Given the description of an element on the screen output the (x, y) to click on. 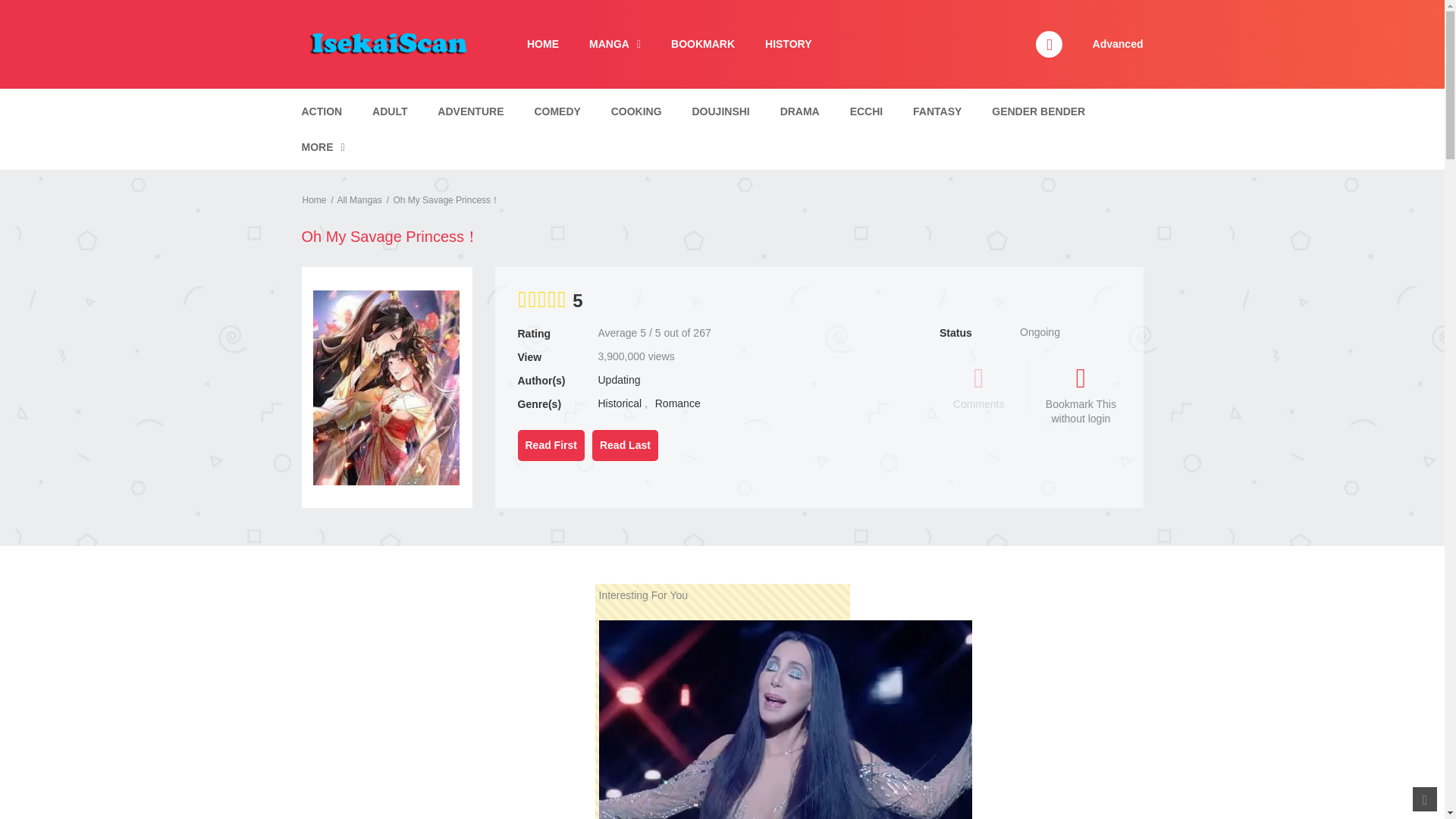
HISTORY MANGA (788, 44)
Doujinshi (721, 111)
DRAMA (799, 111)
ECCHI (866, 111)
Cooking (636, 111)
Comedy (556, 111)
COMEDY (556, 111)
HISTORY (788, 44)
GENDER BENDER (1037, 111)
DOUJINSHI (721, 111)
